Given the description of an element on the screen output the (x, y) to click on. 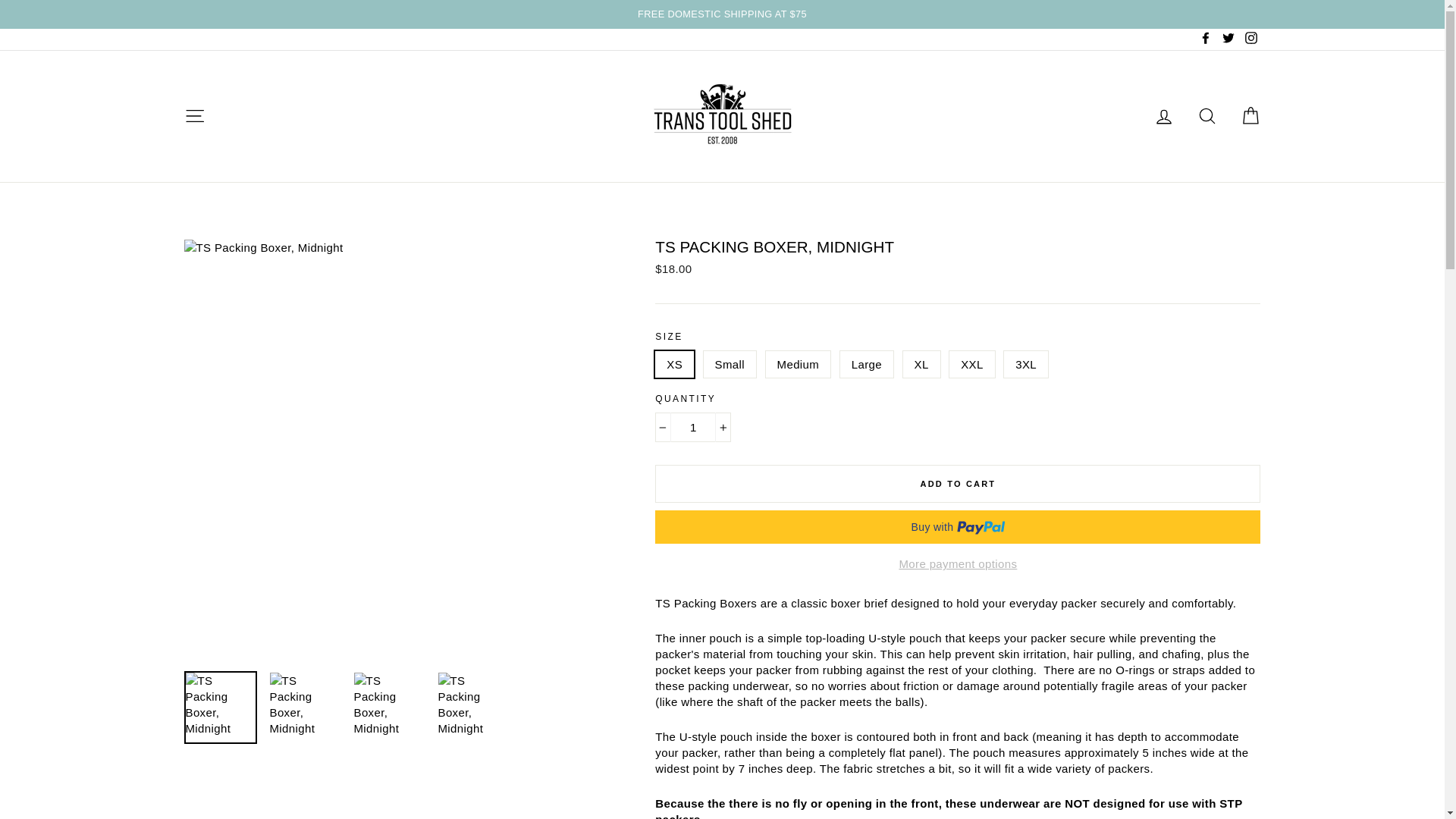
Trans Tool Shed on Instagram (1250, 38)
Trans Tool Shed on Facebook (1205, 38)
1 (692, 427)
